Given the description of an element on the screen output the (x, y) to click on. 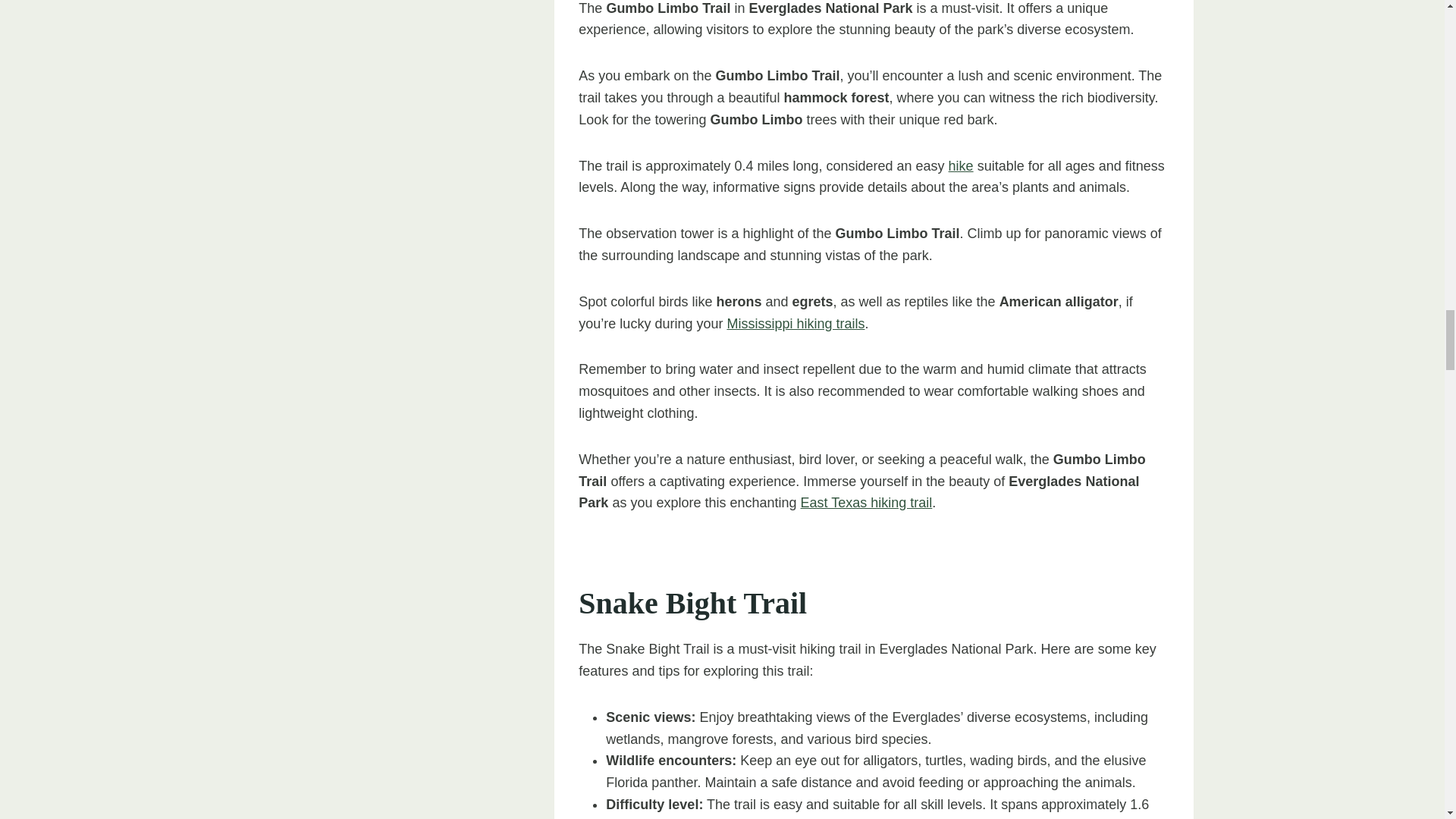
hike (961, 165)
East Texas hiking trail (866, 502)
Mississippi hiking trails (795, 323)
